Given the description of an element on the screen output the (x, y) to click on. 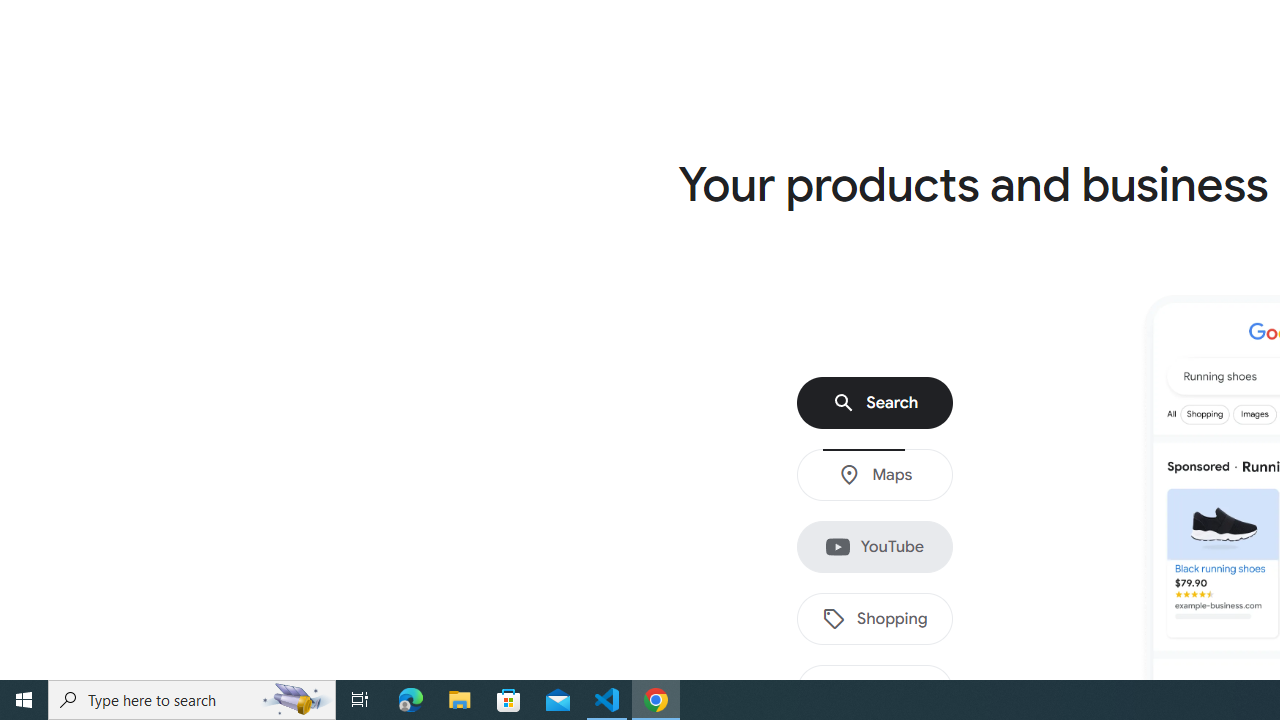
Google Chrome - 1 running window (656, 699)
Type here to search (191, 699)
Microsoft Edge (411, 699)
File Explorer (460, 699)
Search highlights icon opens search home window (295, 699)
Images (875, 691)
YouTube (875, 547)
Task View (359, 699)
Microsoft Store (509, 699)
Shopping (875, 619)
Maps (875, 475)
Start (24, 699)
Visual Studio Code - 1 running window (607, 699)
